Given the description of an element on the screen output the (x, y) to click on. 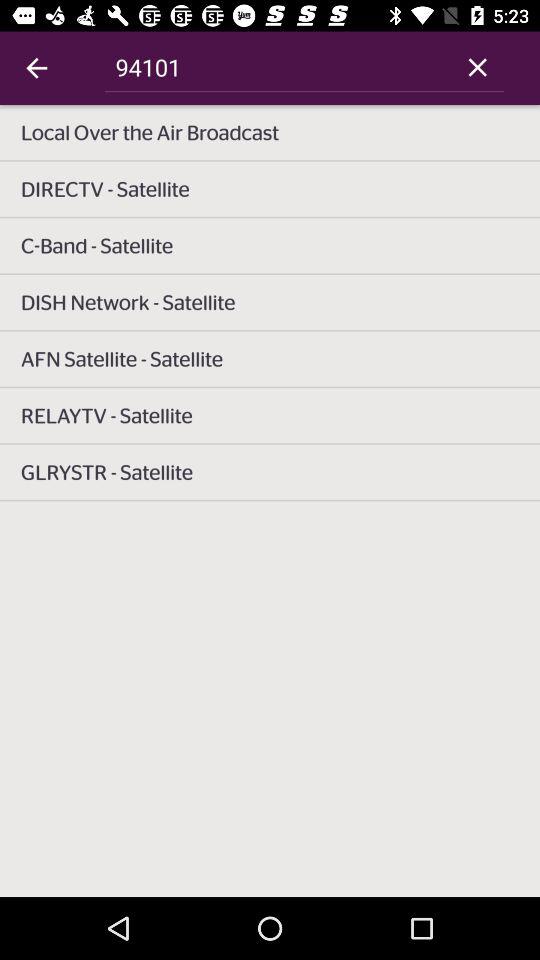
launch icon next to 94101 (36, 68)
